Given the description of an element on the screen output the (x, y) to click on. 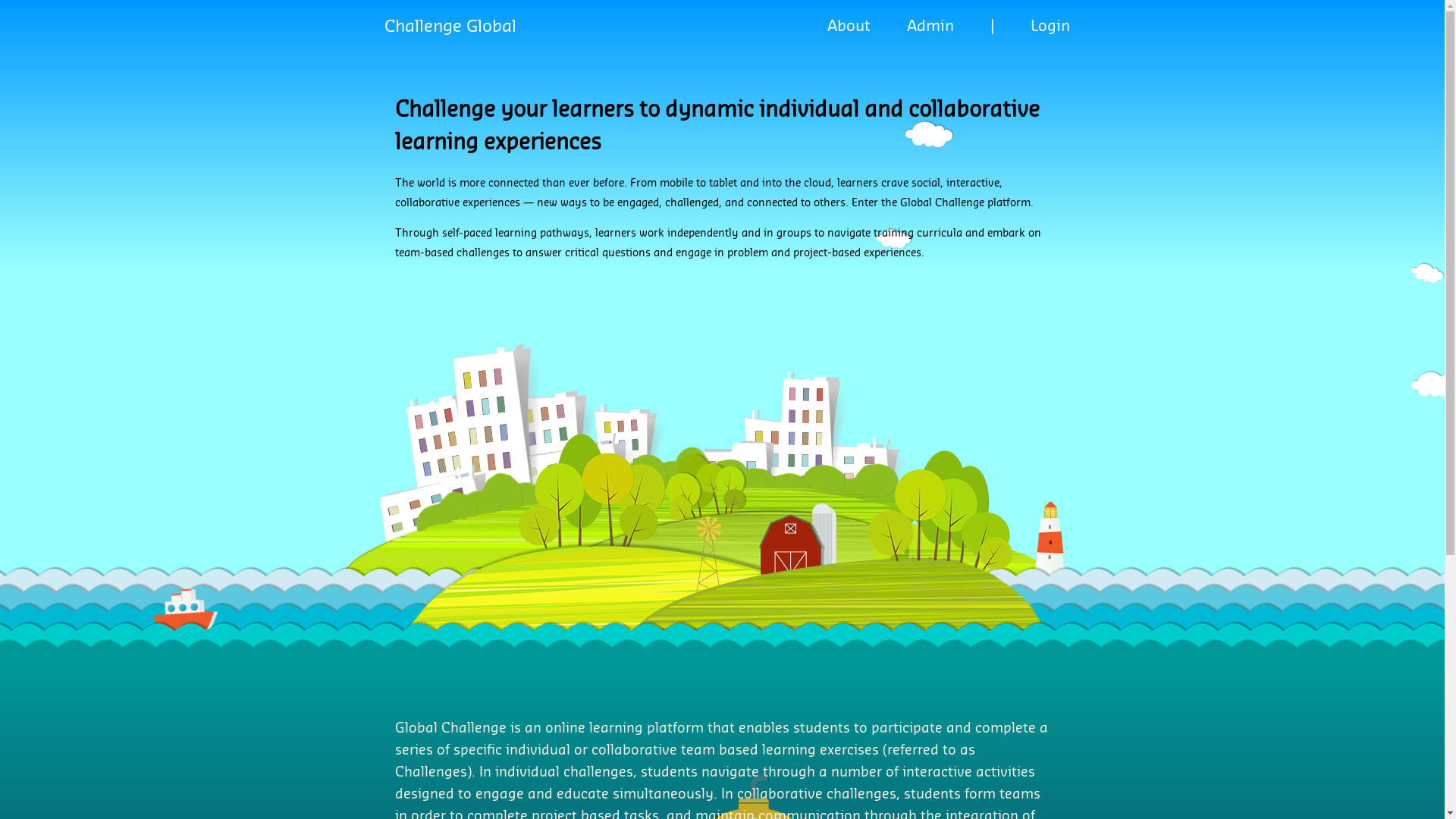
Challenge Global Element type: text (449, 26)
Admin Element type: text (929, 26)
Login Element type: text (1049, 26)
About Element type: text (847, 26)
| Element type: text (992, 26)
